Given the description of an element on the screen output the (x, y) to click on. 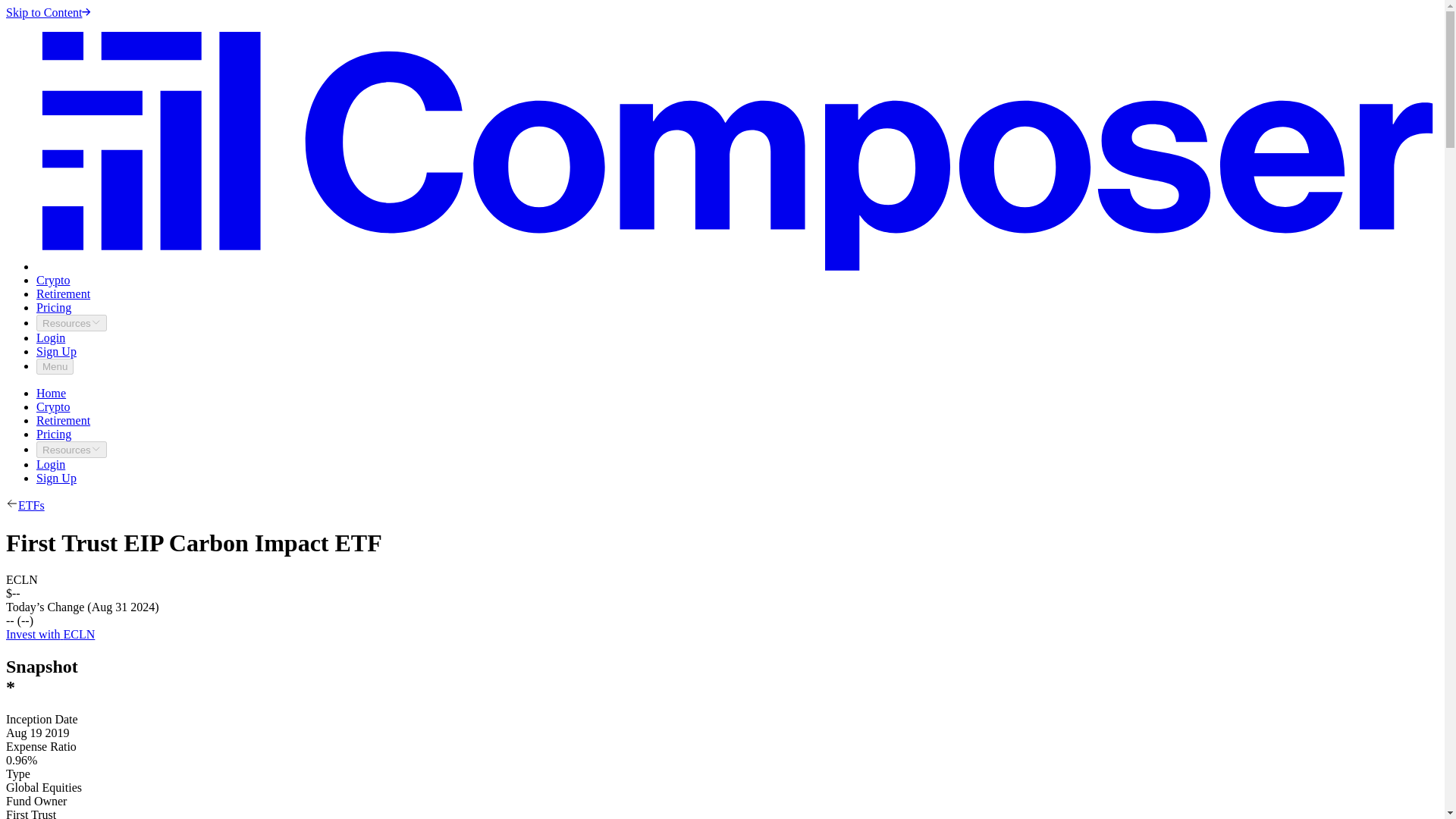
Resources (71, 322)
Retirement (63, 293)
Sign Up (56, 350)
ETFs (31, 504)
Crypto (52, 279)
Resources (71, 449)
Pricing (53, 307)
Sign Up (56, 477)
Skip to Content (47, 11)
Login (50, 463)
